Given the description of an element on the screen output the (x, y) to click on. 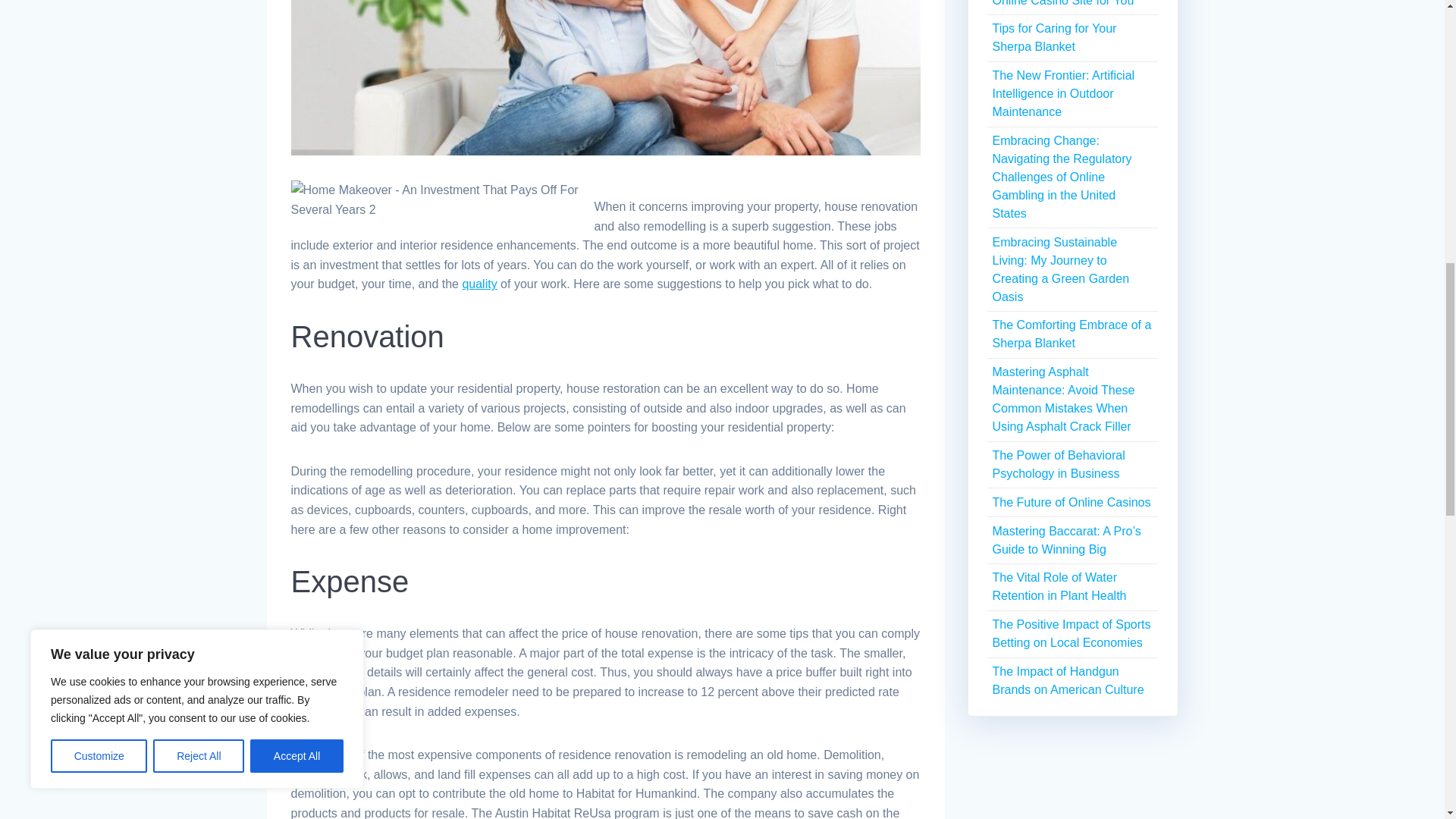
How to Find the Perfect Online Casino Site for You (1062, 3)
Tips for Caring for Your Sherpa Blanket (1053, 37)
quality (478, 283)
